Given the description of an element on the screen output the (x, y) to click on. 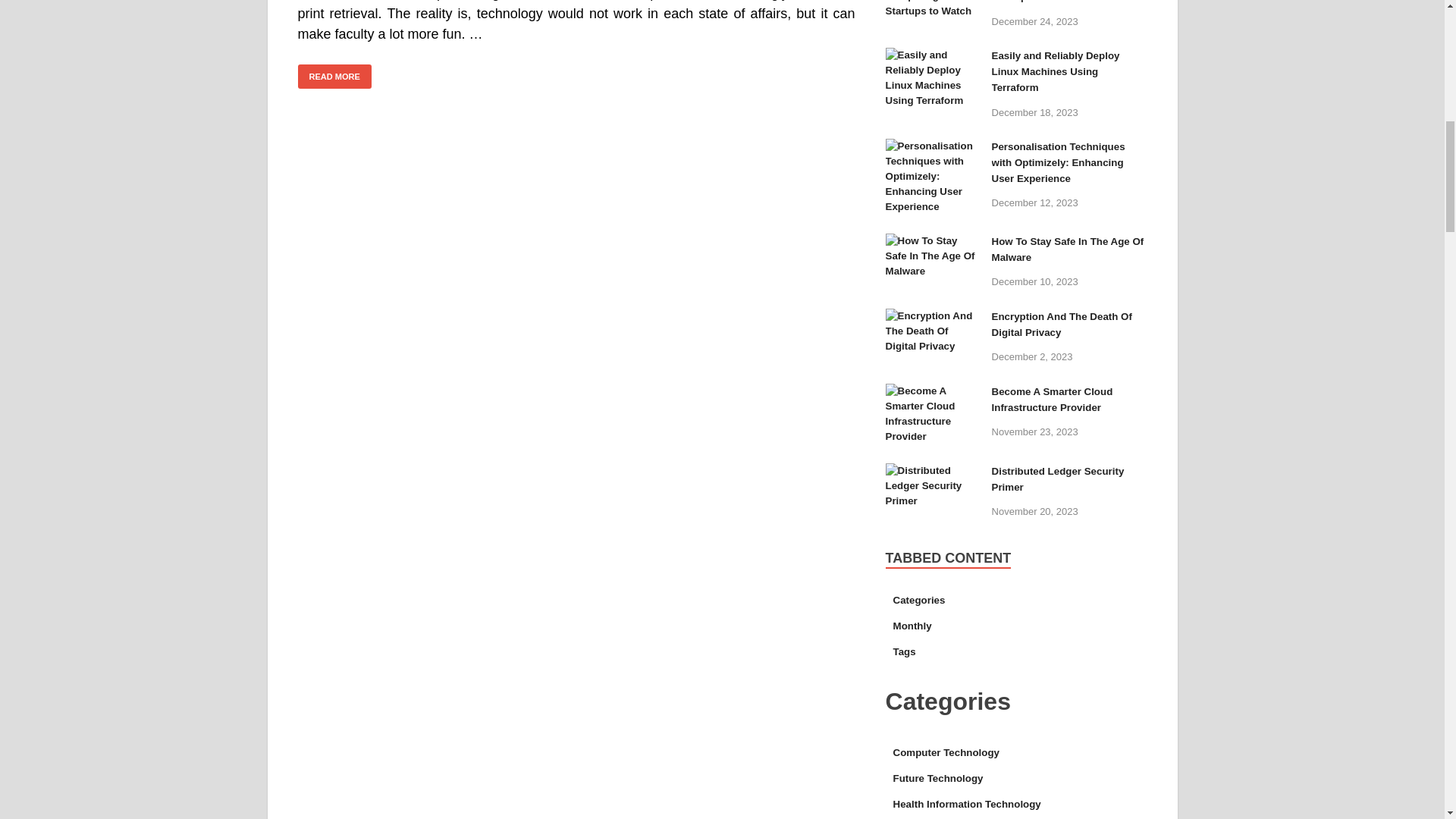
READ MORE (334, 76)
Encryption And The Death Of Digital Privacy (932, 317)
Distributed Ledger Security Primer (932, 472)
Become A Smarter Cloud Infrastructure Provider (932, 392)
Easily and Reliably Deploy Linux Machines Using Terraform (932, 57)
How To Stay Safe In The Age Of Malware (932, 242)
